Given the description of an element on the screen output the (x, y) to click on. 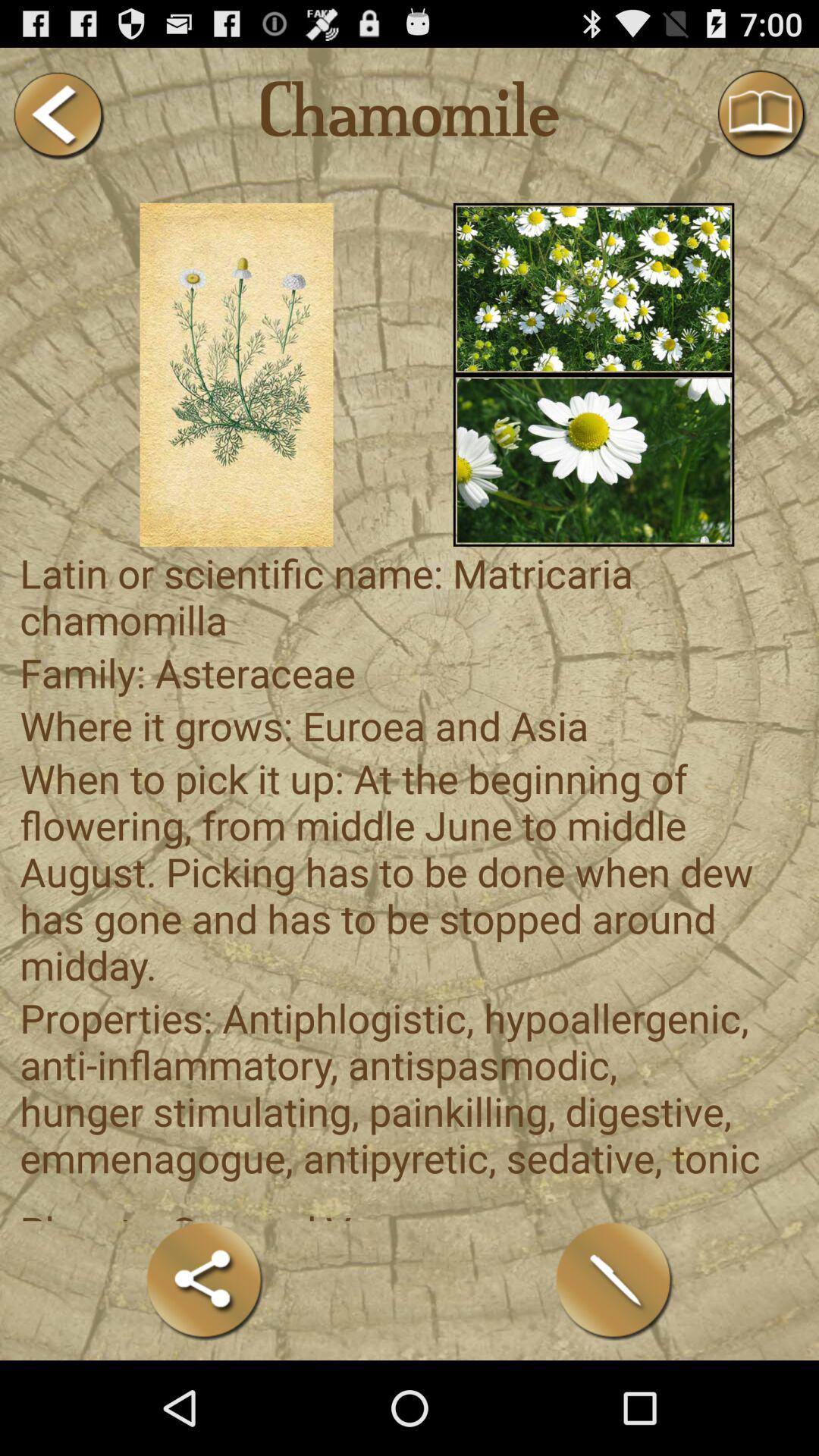
share formulation (204, 1280)
